Given the description of an element on the screen output the (x, y) to click on. 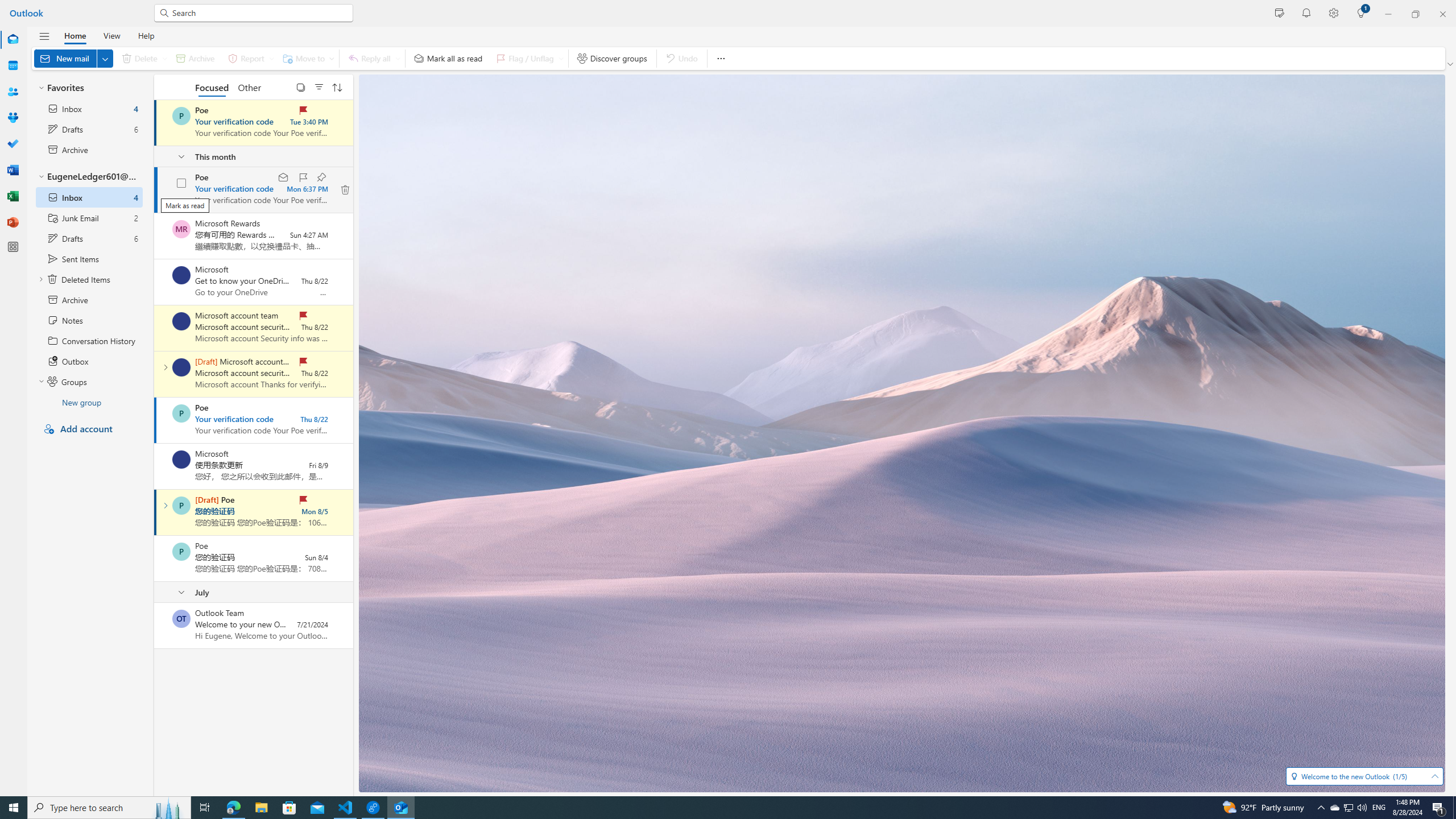
Groups (12, 118)
Flag this message (302, 177)
Open (1434, 775)
Keep this message at the top of your folder (320, 177)
PowerPoint (12, 222)
Expand to see delete options (164, 58)
Move to (306, 58)
Poe (180, 551)
People (12, 92)
Excel (12, 196)
Report (248, 58)
Hide navigation pane (44, 36)
To Do (12, 143)
